Given the description of an element on the screen output the (x, y) to click on. 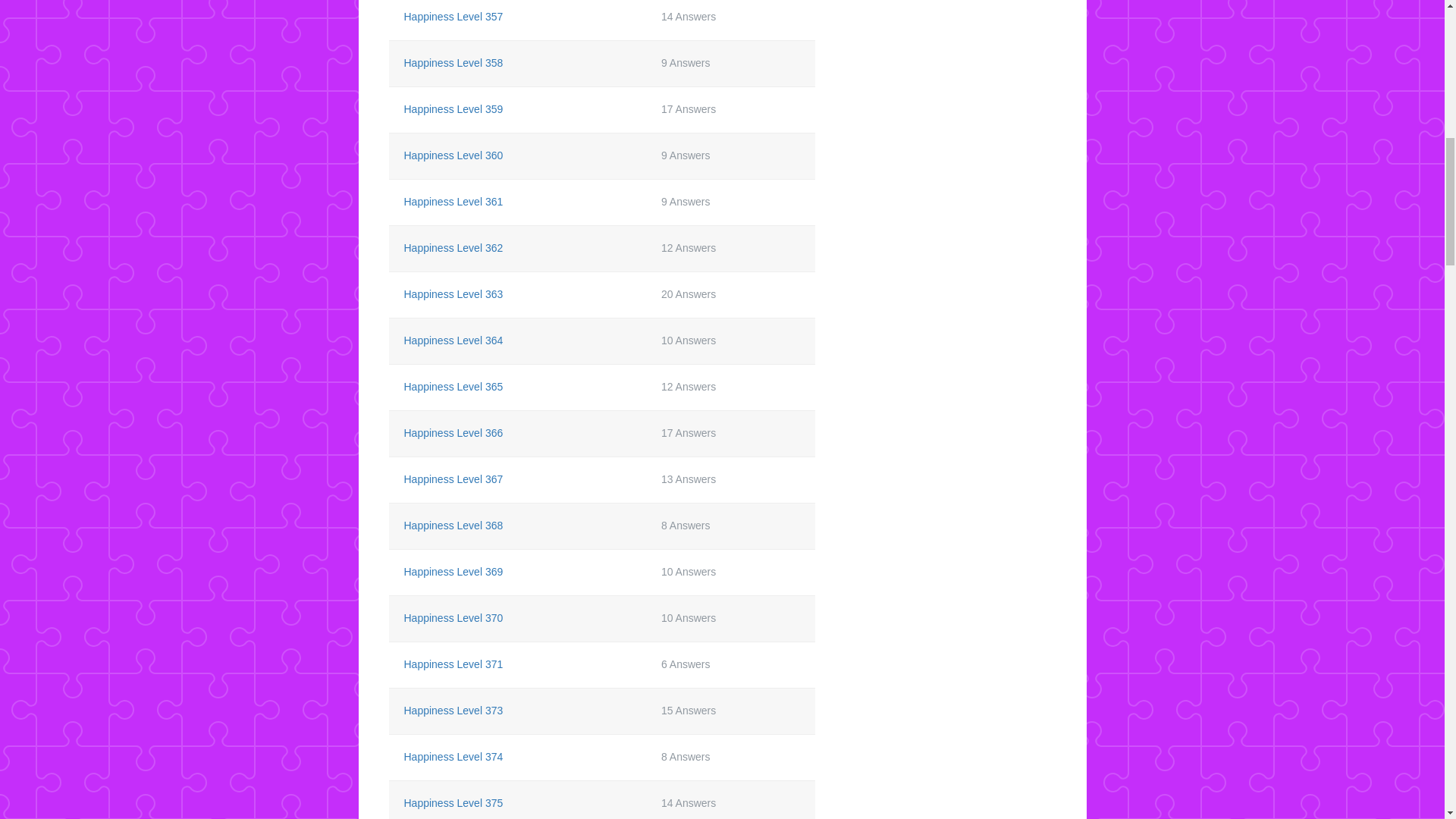
Happiness Level 366 (452, 432)
Happiness Level 375 (452, 802)
Happiness Level 371 (452, 664)
Happiness Level 362 (452, 247)
Happiness Level 373 (452, 710)
Happiness Level 360 (452, 155)
Happiness Level 364 (452, 340)
Happiness Level 367 (452, 479)
Happiness Level 370 (452, 617)
Happiness Level 357 (452, 16)
